Given the description of an element on the screen output the (x, y) to click on. 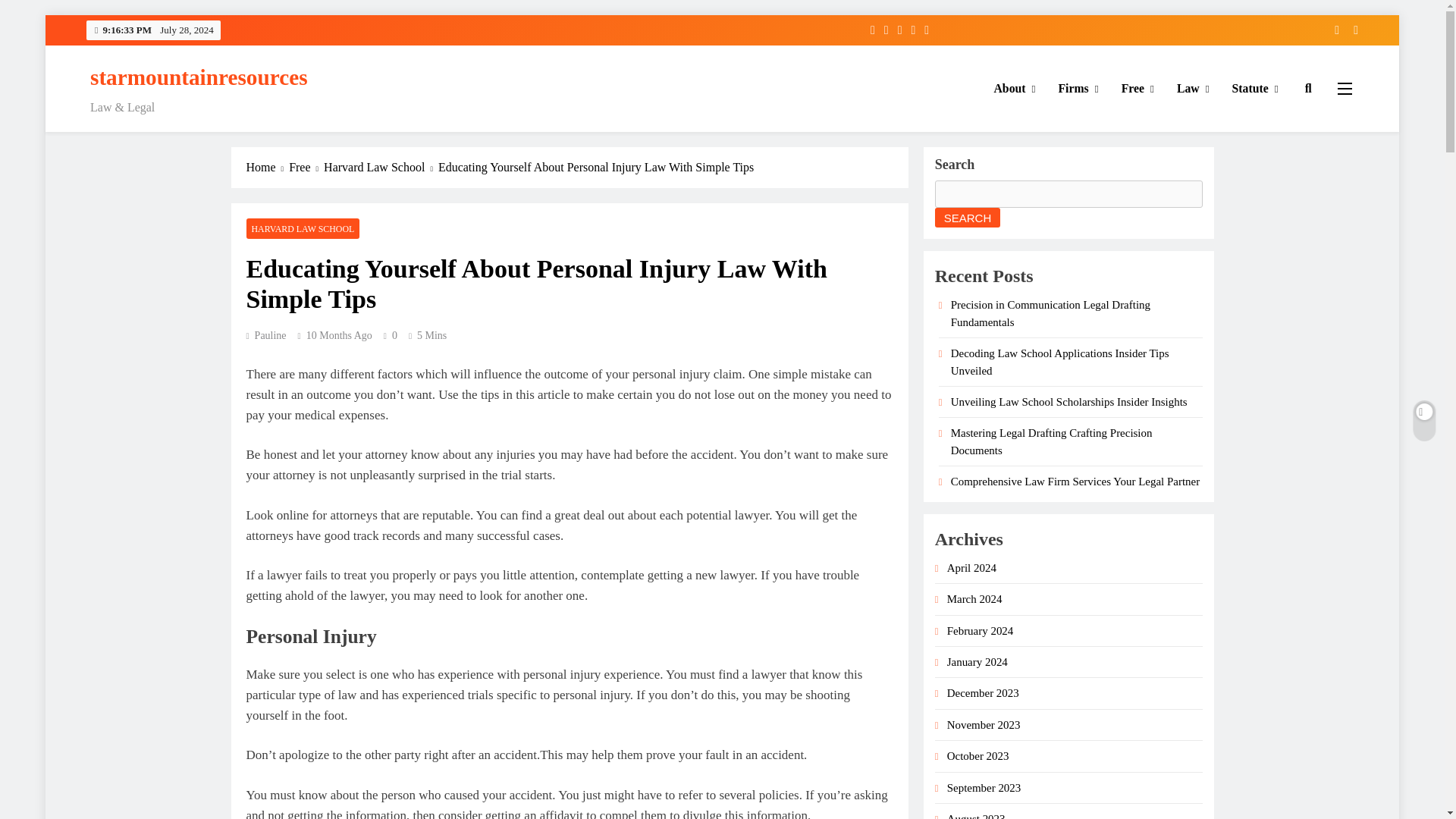
Firms (1077, 88)
Free (1137, 88)
Statute (1255, 88)
starmountainresources (198, 77)
Law (1193, 88)
About (1014, 88)
